Given the description of an element on the screen output the (x, y) to click on. 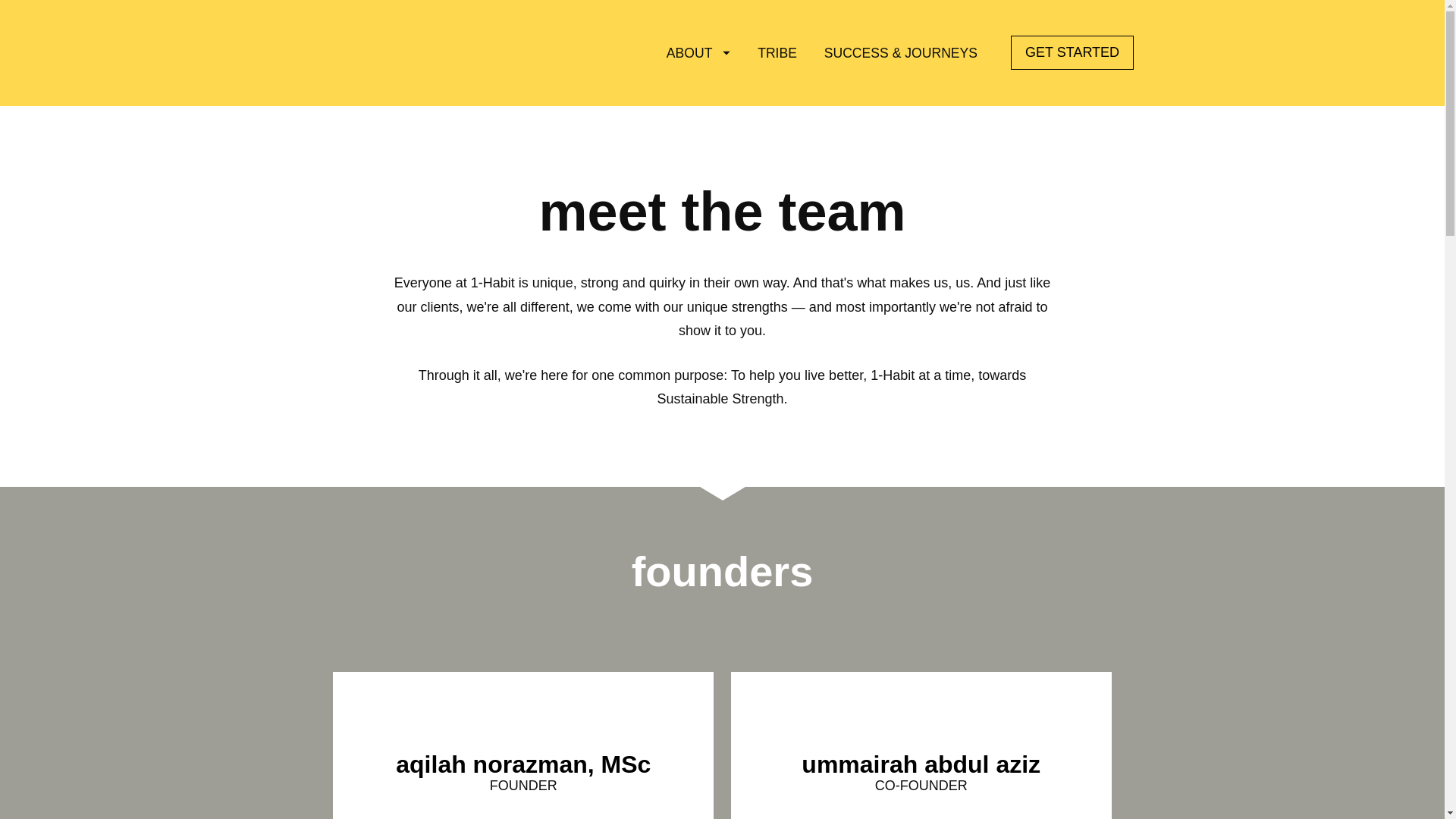
ABOUT (698, 53)
TRIBE (776, 53)
GET STARTED (1072, 52)
